Given the description of an element on the screen output the (x, y) to click on. 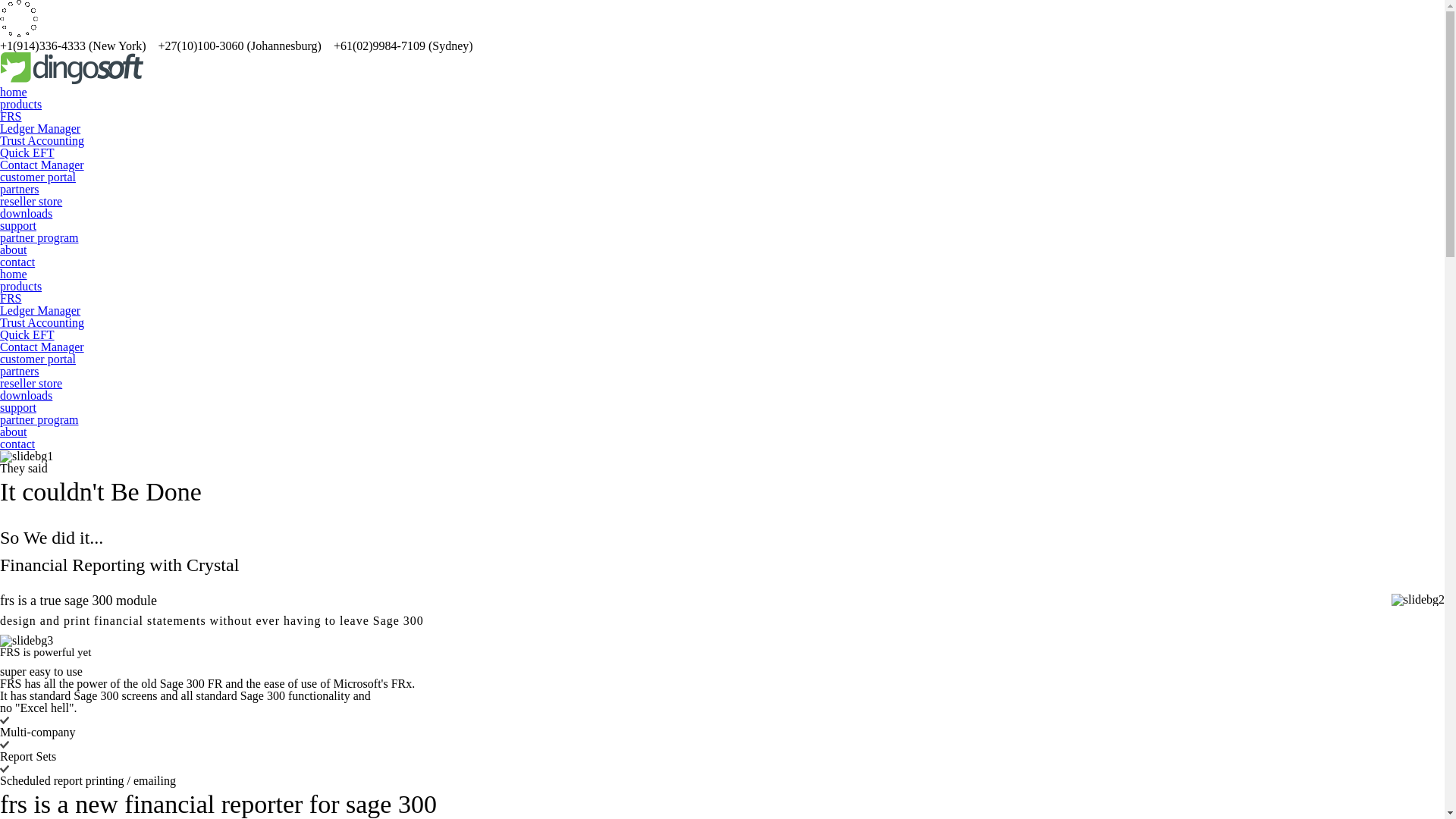
home Element type: text (13, 273)
downloads Element type: text (26, 395)
customer portal Element type: text (37, 176)
contact Element type: text (17, 443)
downloads Element type: text (26, 213)
Ledger Manager Element type: text (40, 310)
products Element type: text (20, 103)
FRS Element type: text (10, 115)
Quick EFT Element type: text (27, 334)
Trust Accounting Element type: text (42, 322)
Ledger Manager Element type: text (40, 128)
products Element type: text (20, 285)
Quick EFT Element type: text (27, 152)
about Element type: text (13, 249)
Trust Accounting Element type: text (42, 140)
FRS Element type: text (10, 297)
home Element type: text (13, 91)
partners Element type: text (19, 188)
support Element type: text (18, 407)
about Element type: text (13, 431)
Contact Manager Element type: text (42, 164)
support Element type: text (18, 225)
partners Element type: text (19, 370)
Contact Manager Element type: text (42, 346)
reseller store Element type: text (31, 200)
partner program Element type: text (39, 419)
contact Element type: text (17, 261)
partner program Element type: text (39, 237)
customer portal Element type: text (37, 358)
reseller store Element type: text (31, 382)
